Given the description of an element on the screen output the (x, y) to click on. 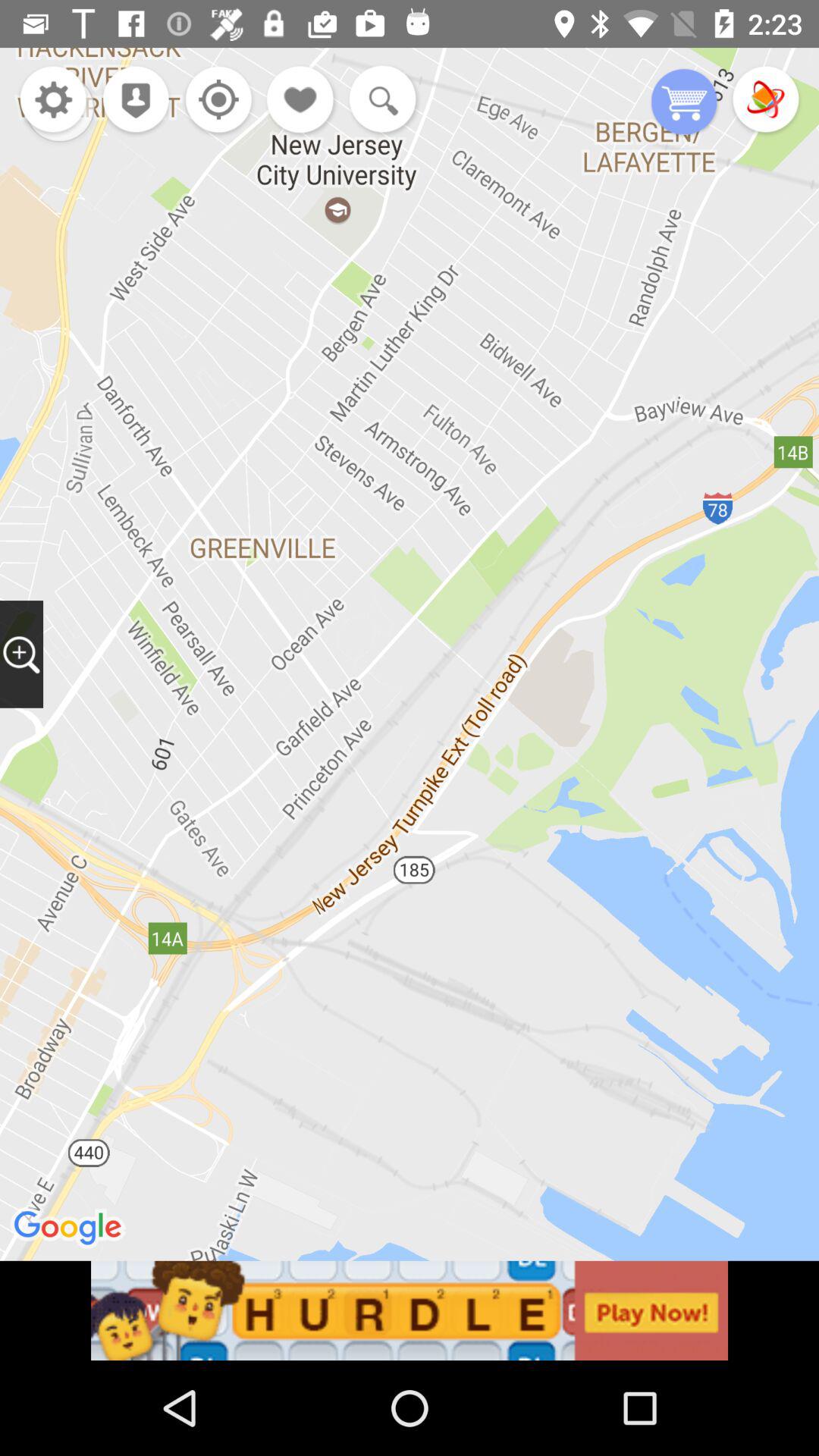
select advertisement (409, 1310)
